Given the description of an element on the screen output the (x, y) to click on. 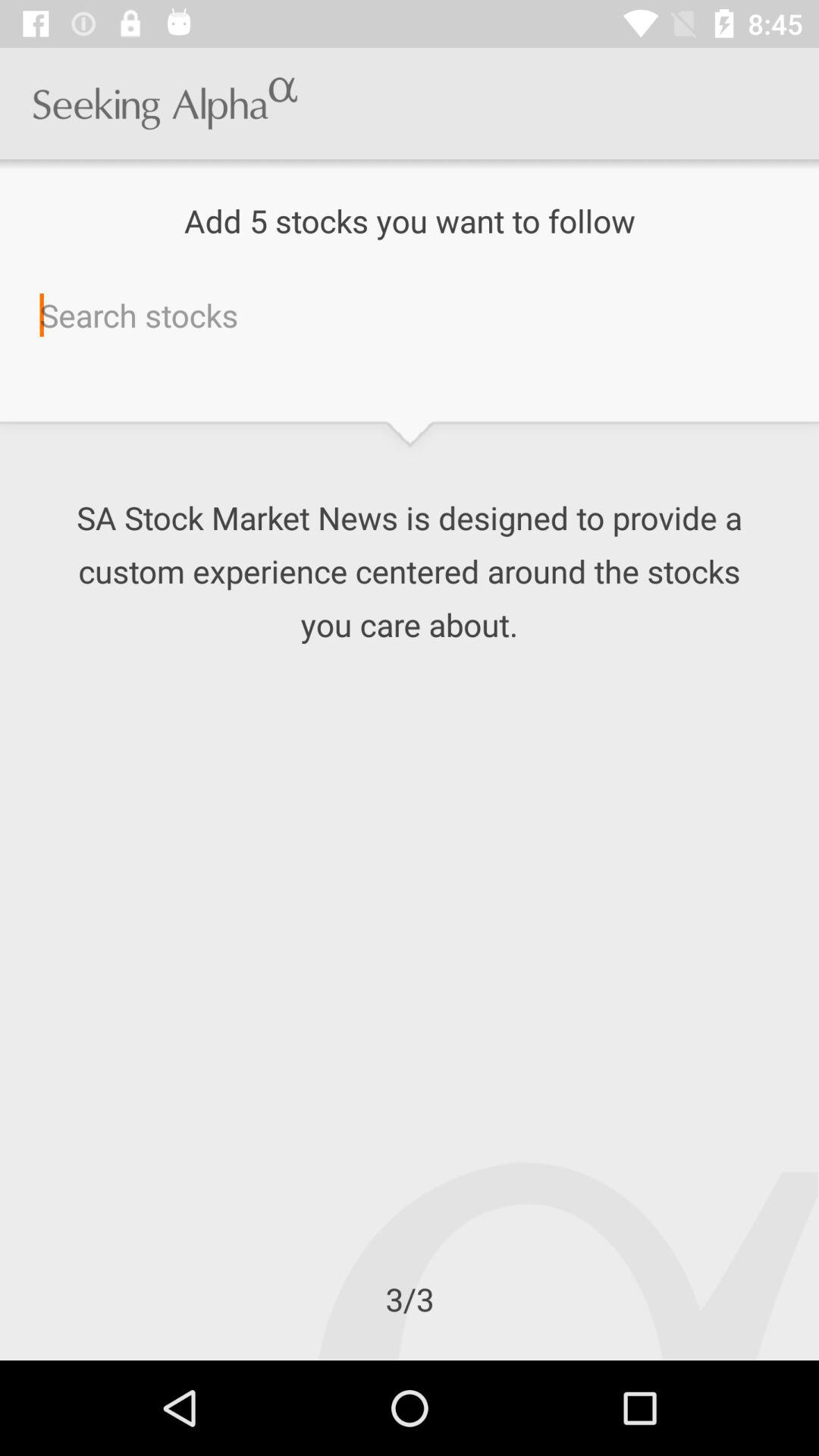
turn off the icon at the bottom left corner (0, 1359)
